Given the description of an element on the screen output the (x, y) to click on. 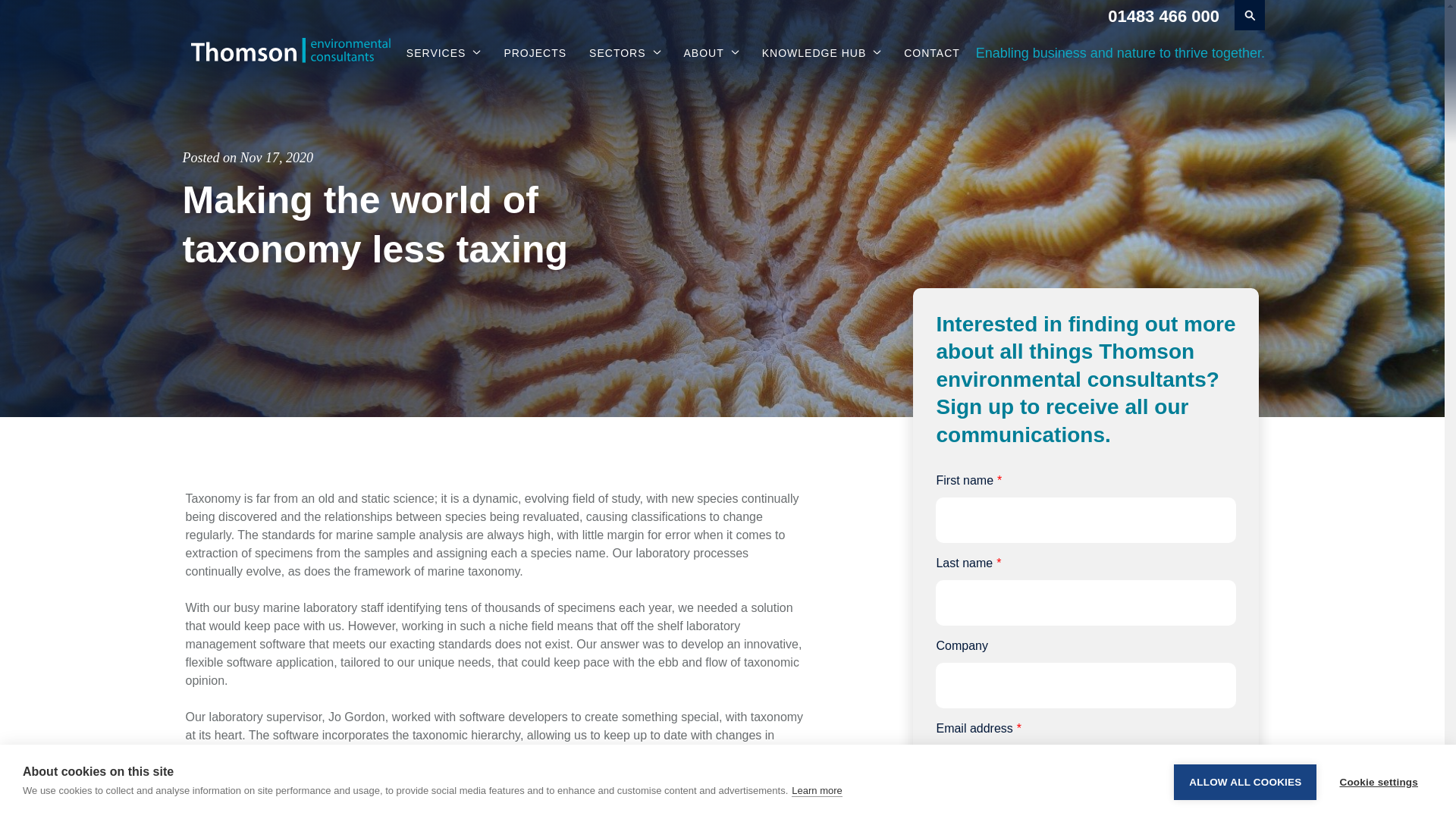
ALLOW ALL COOKIES (1244, 811)
search (1249, 15)
SERVICES (443, 53)
Cookie settings (1377, 803)
